Given the description of an element on the screen output the (x, y) to click on. 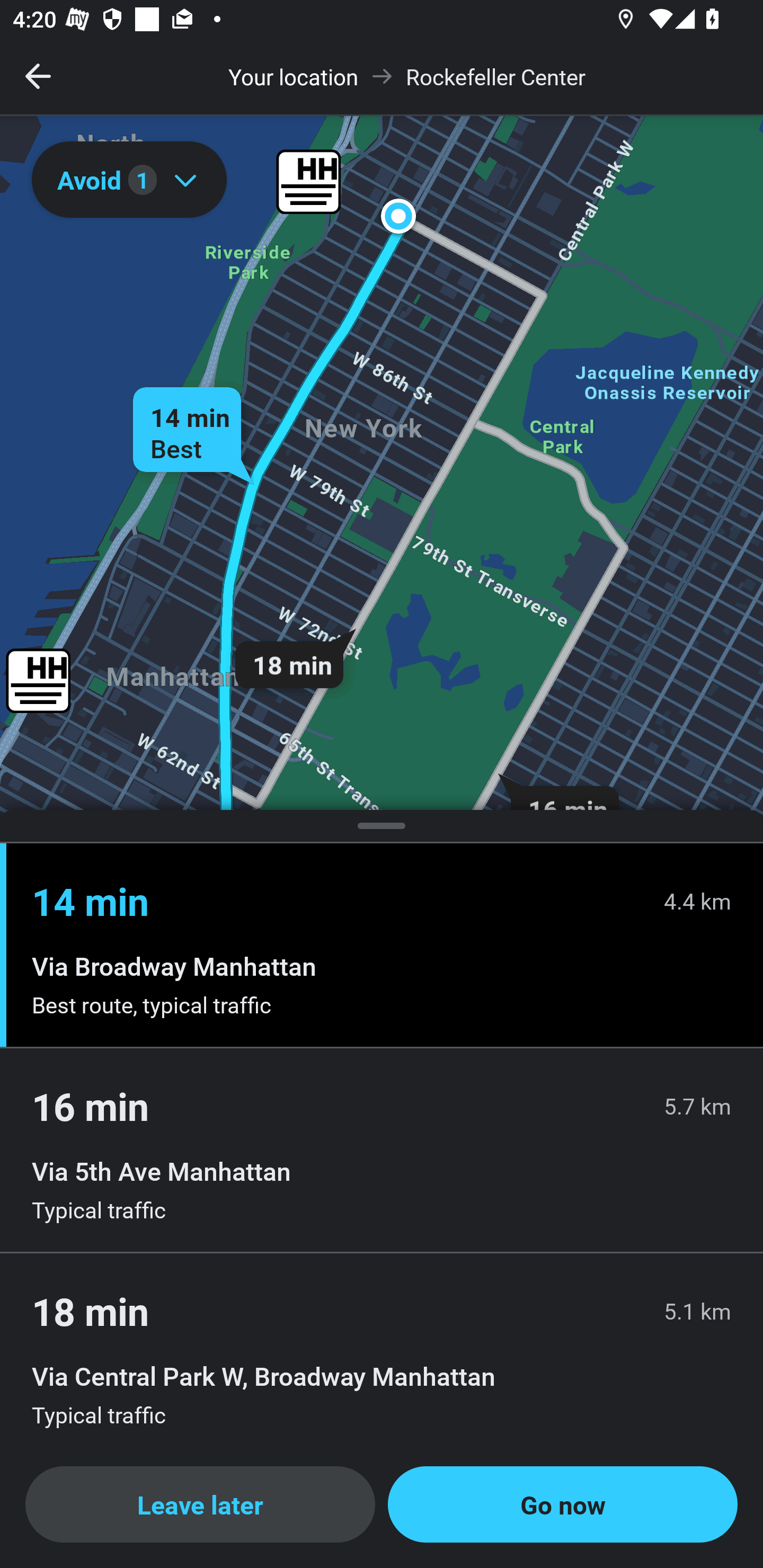
Leave later (200, 1504)
Go now (562, 1504)
